Given the description of an element on the screen output the (x, y) to click on. 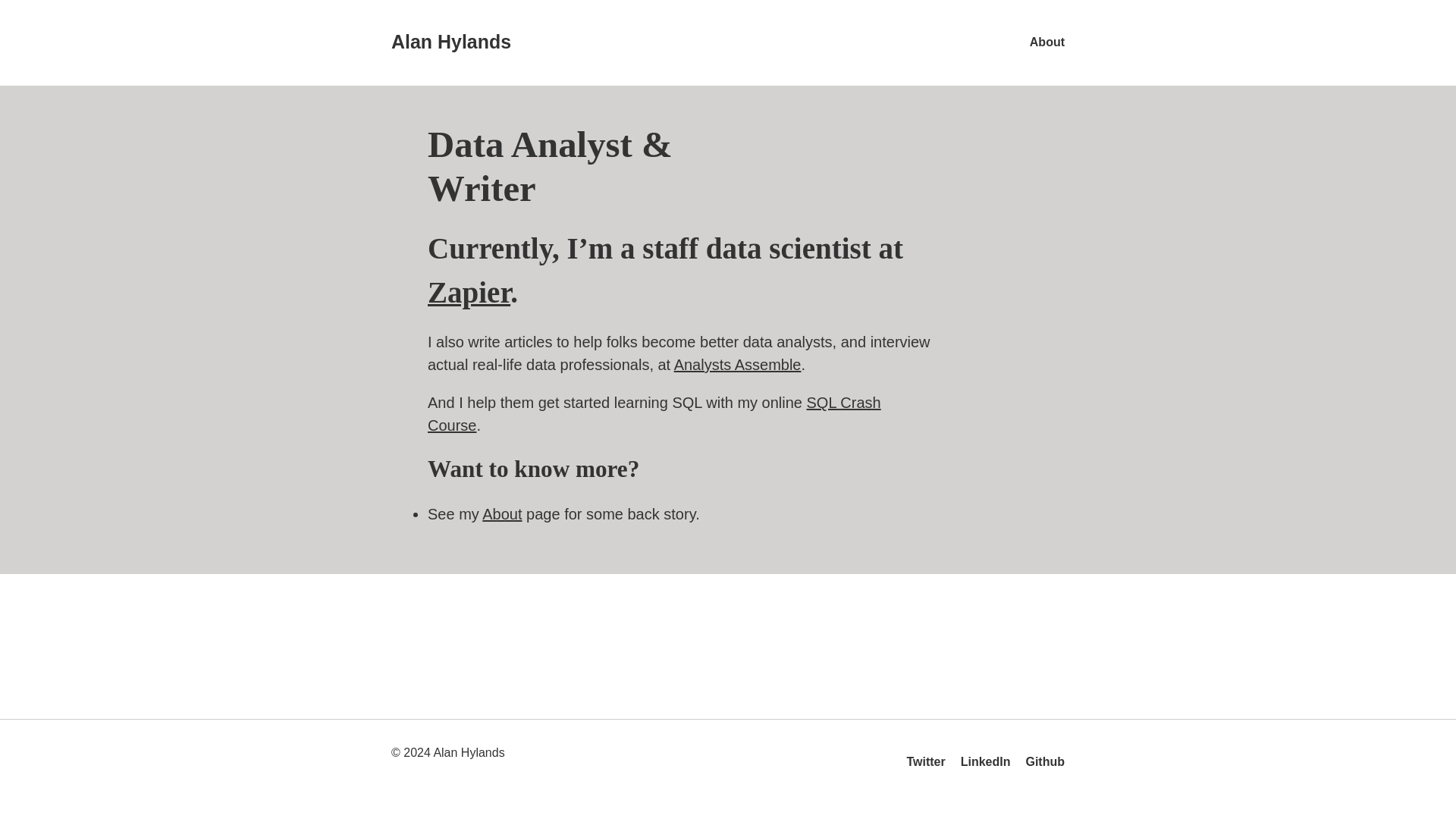
Zapier (469, 292)
About (1046, 42)
Twitter (924, 761)
About (501, 514)
Github (1044, 761)
Analysts Assemble (451, 42)
LinkedIn (738, 364)
SQL Crash Course (985, 761)
